Given the description of an element on the screen output the (x, y) to click on. 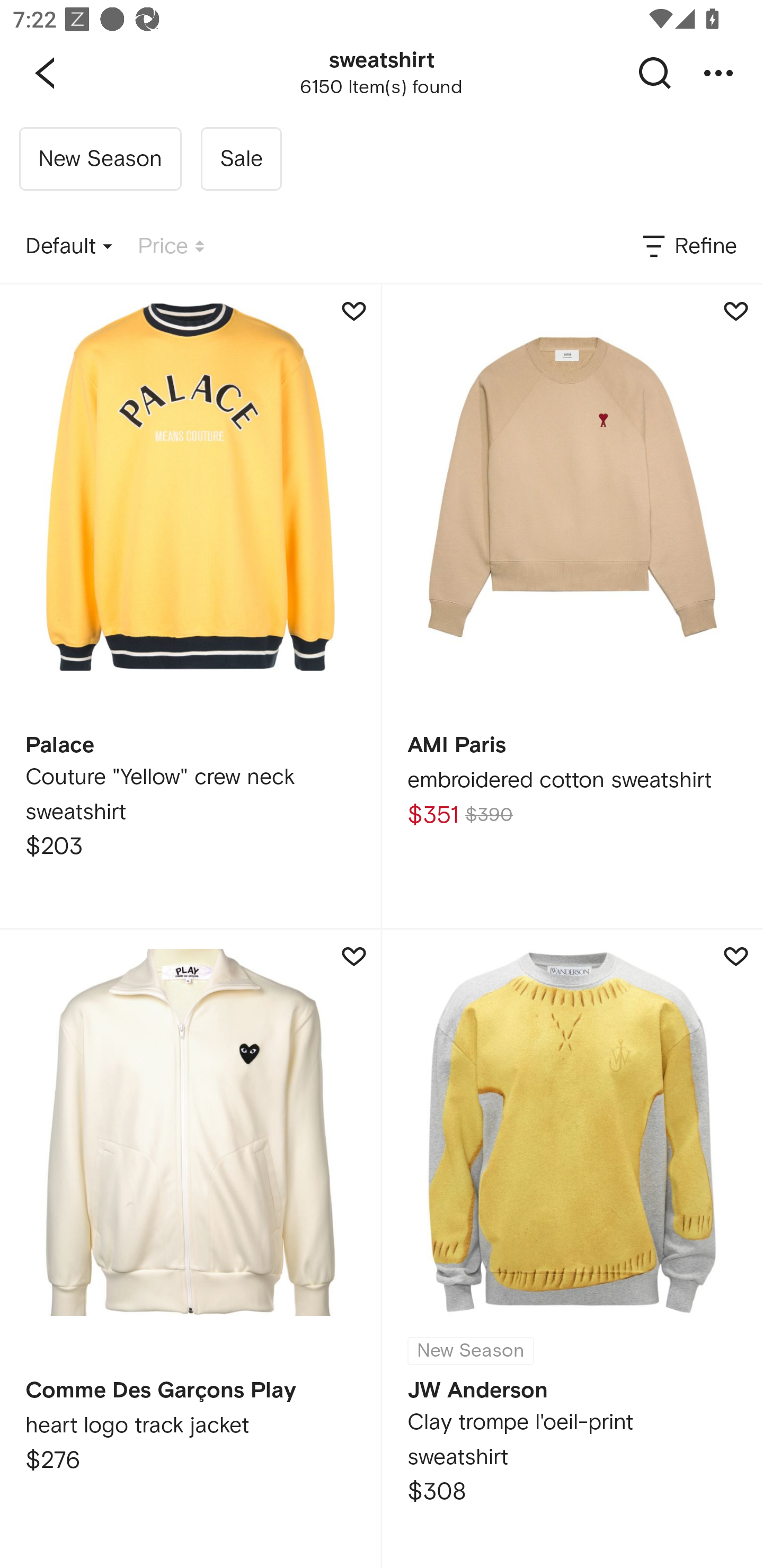
New Season (100, 158)
Sale (240, 158)
Default (68, 246)
Price (171, 246)
Refine (688, 246)
Palace Couture "Yellow" crew neck sweatshirt $203 (190, 605)
AMI Paris embroidered cotton sweatshirt  $351 $390 (572, 605)
